Given the description of an element on the screen output the (x, y) to click on. 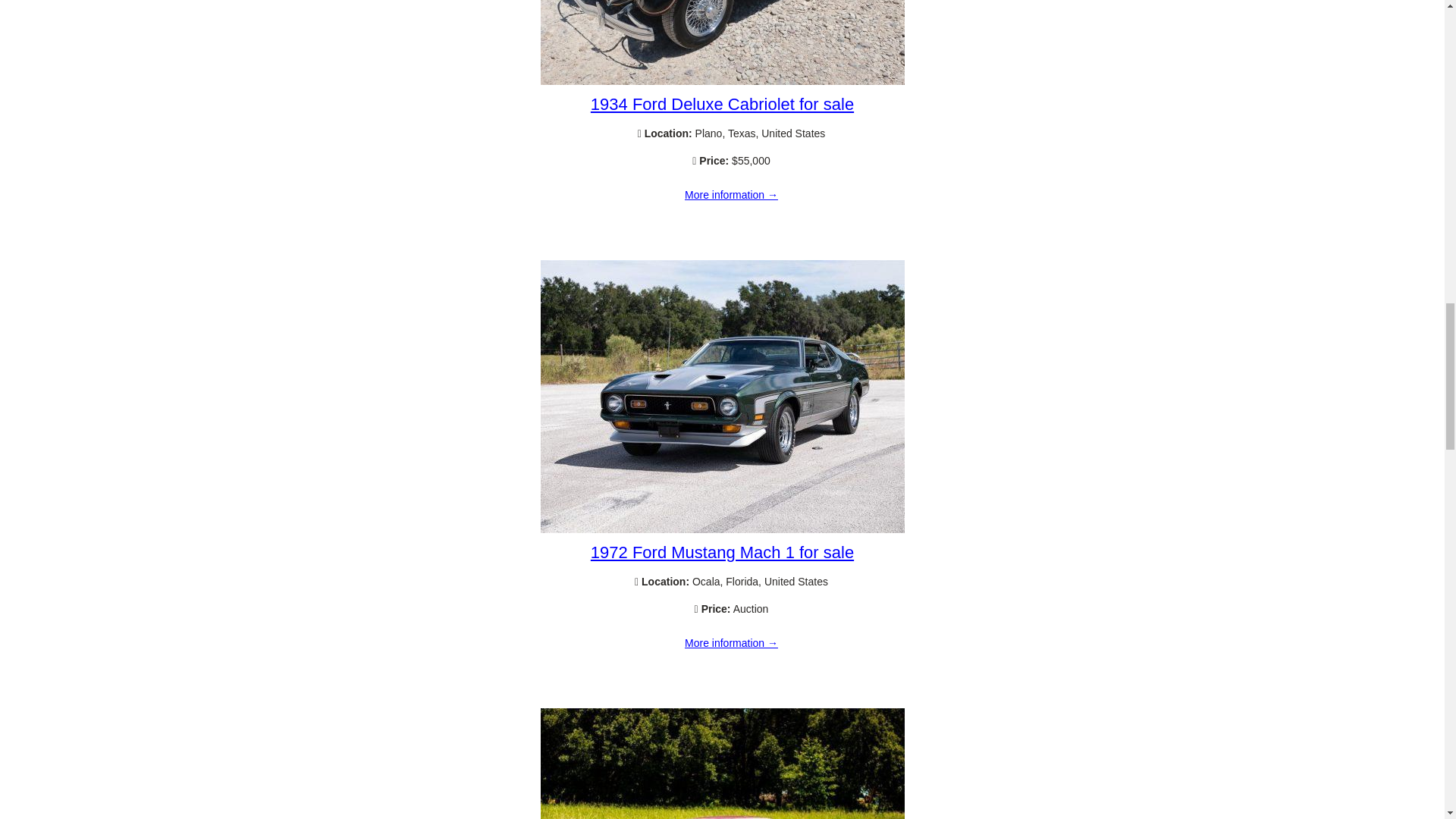
1972 Ford Mustang Mach 1 for sale (722, 551)
1934 Ford Deluxe Cabriolet for sale (722, 80)
1972 Ford Mustang Mach 1 for sale (731, 643)
1972 Ford Mustang Mach 1 for sale (722, 529)
1934 Ford Deluxe Cabriolet for sale (731, 194)
1934 Ford Deluxe Cabriolet for sale (722, 104)
